Given the description of an element on the screen output the (x, y) to click on. 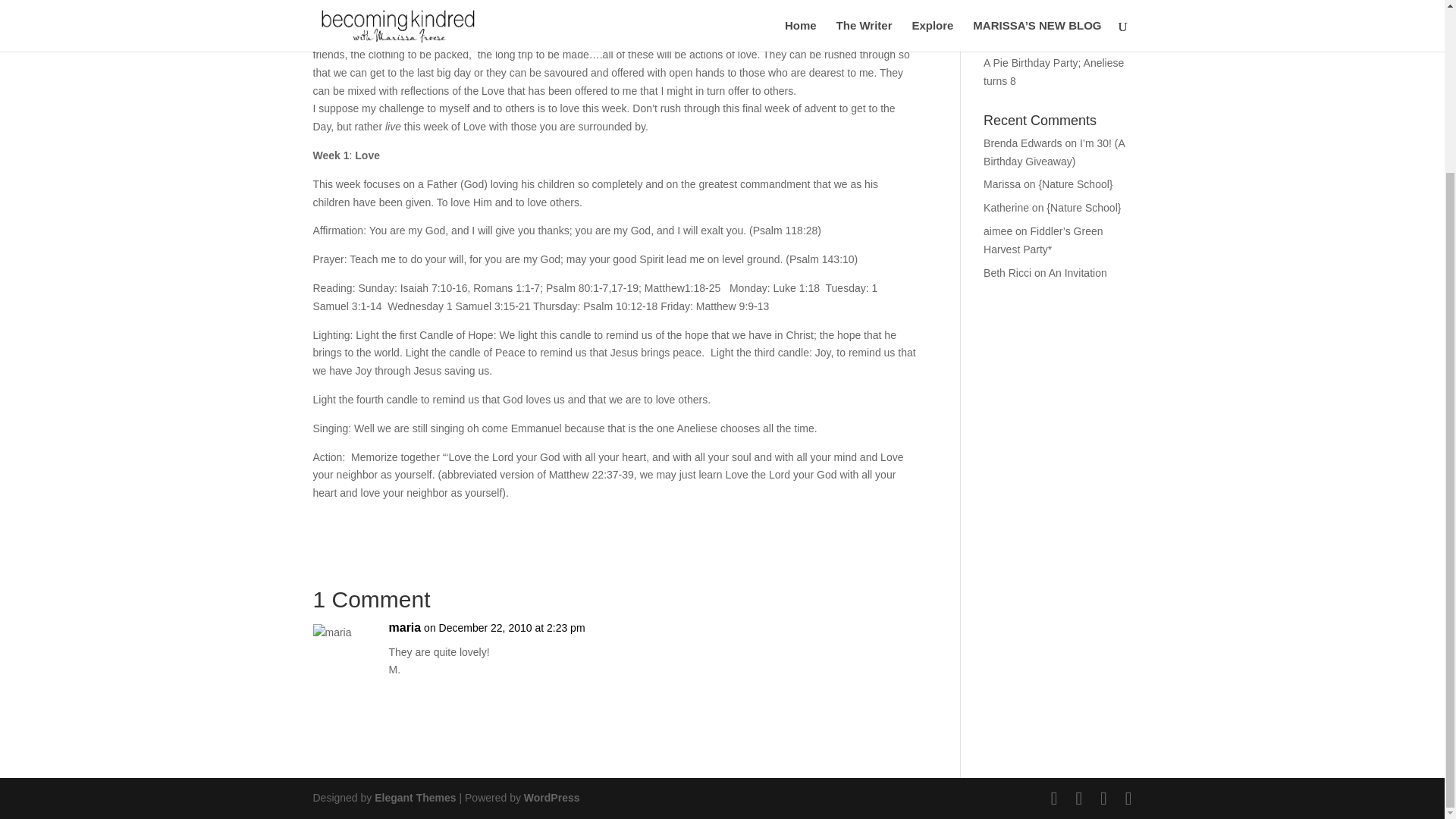
A Pie Birthday Party; Aneliese turns 8 (1054, 71)
Brenda Edwards (1023, 143)
An Invitation (1077, 272)
maria (404, 628)
May Day Celebration (1033, 39)
May Day 2017 (1017, 16)
WordPress (551, 797)
Premium WordPress Themes (414, 797)
Elegant Themes (414, 797)
